Given the description of an element on the screen output the (x, y) to click on. 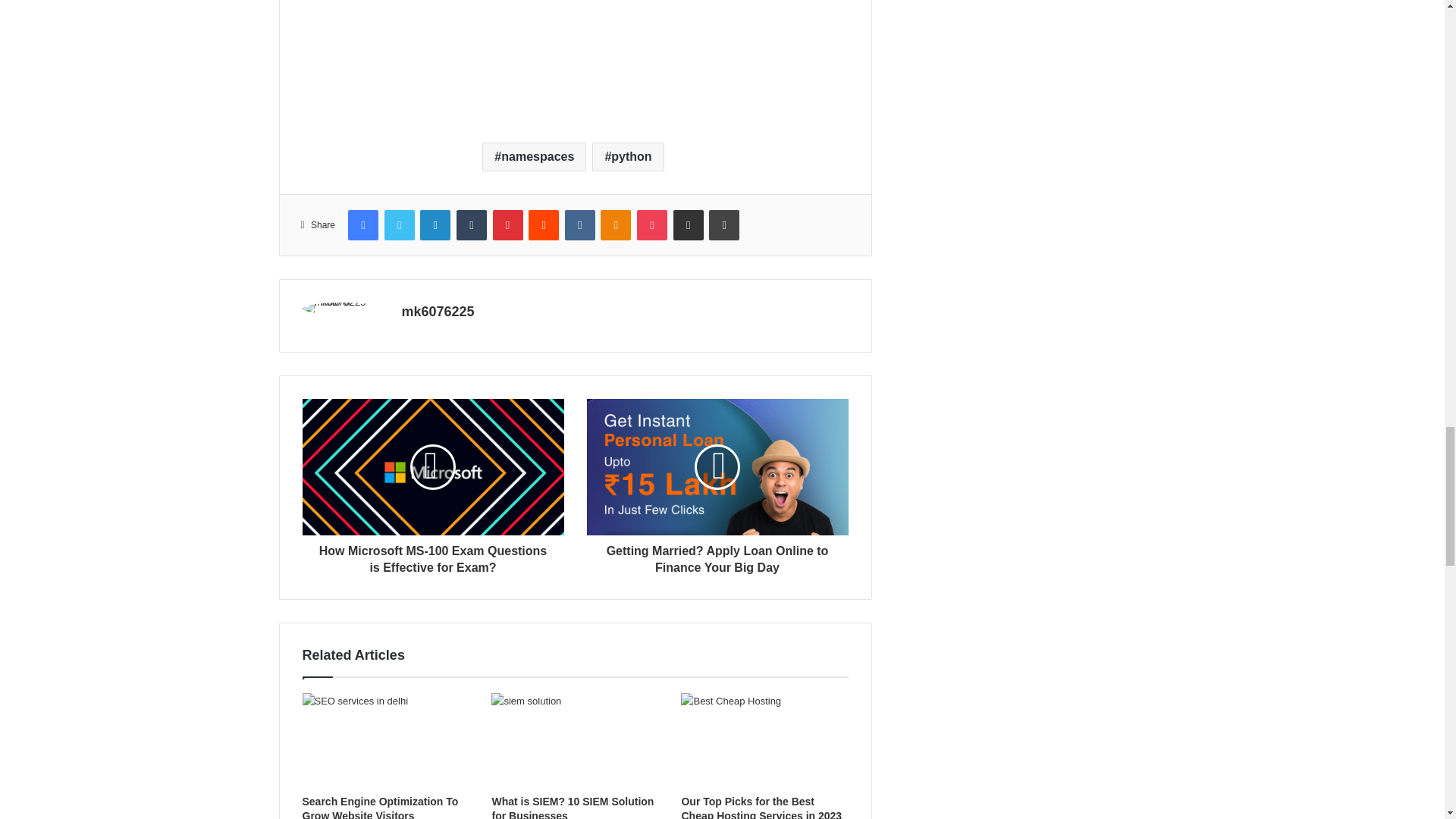
Print (724, 224)
Pinterest (507, 224)
LinkedIn (434, 224)
Reddit (543, 224)
Share via Email (687, 224)
namespaces (533, 156)
Pocket (651, 224)
python (627, 156)
Twitter (399, 224)
Tumblr (471, 224)
Tumblr (471, 224)
Facebook (362, 224)
Twitter (399, 224)
VKontakte (579, 224)
Facebook (362, 224)
